Given the description of an element on the screen output the (x, y) to click on. 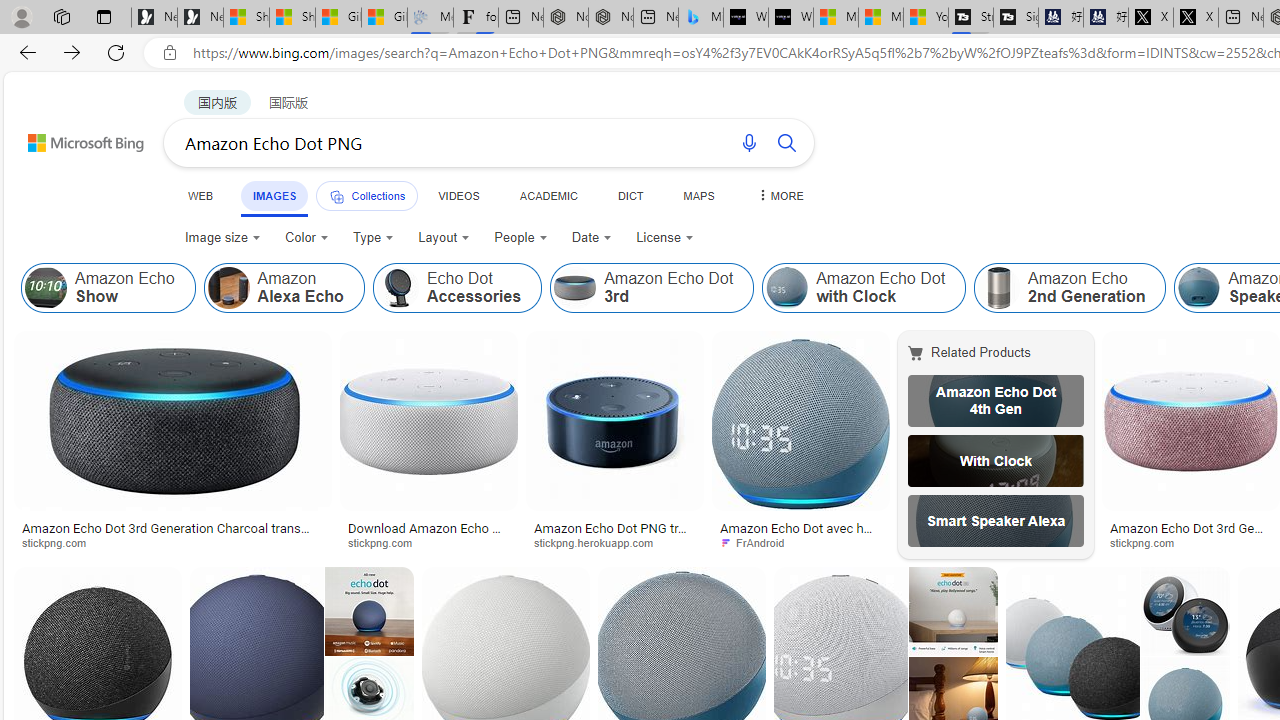
MAPS (698, 195)
Image size (221, 237)
Color (305, 237)
Amazon Echo Dot 4th Gen (995, 400)
License (664, 237)
FrAndroid (800, 542)
stickpng.herokuapp.com (614, 542)
MORE (779, 195)
